Given the description of an element on the screen output the (x, y) to click on. 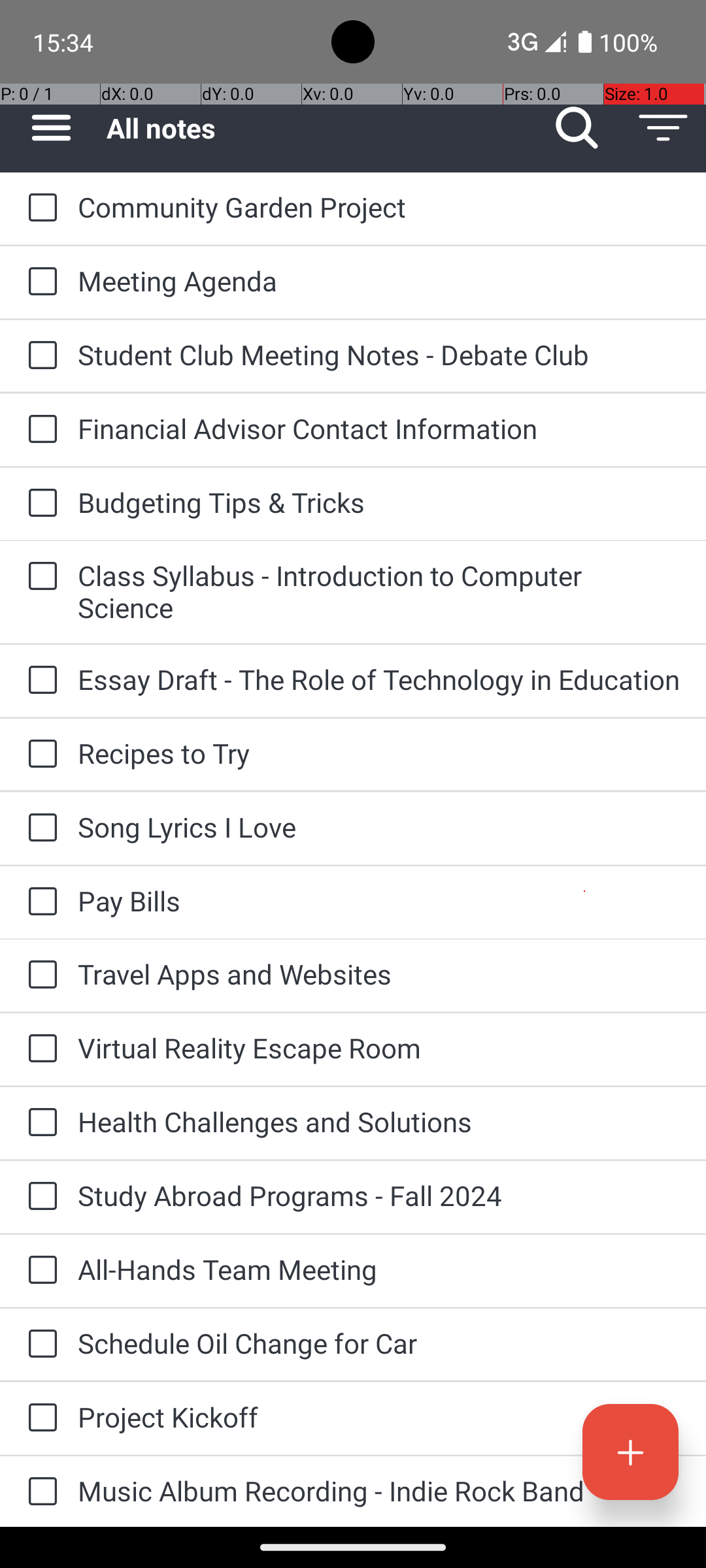
Sidebar Element type: android.widget.Button (44, 127)
All notes Element type: android.widget.TextView (320, 127)
Sort notes by Element type: android.widget.Button (663, 127)
Add new, collapsed Element type: android.widget.Button (630, 1452)
 Element type: android.widget.TextView (51, 127)
 Element type: android.widget.TextView (576, 127)
 Element type: android.widget.TextView (663, 127)
 Element type: android.widget.TextView (630, 1451)
to-do: Community Garden Project Element type: android.widget.CheckBox (38, 208)
Community Garden Project Element type: android.widget.TextView (378, 206)
to-do: Meeting Agenda Element type: android.widget.CheckBox (38, 282)
Meeting Agenda Element type: android.widget.TextView (378, 280)
to-do: Student Club Meeting Notes - Debate Club Element type: android.widget.CheckBox (38, 356)
Student Club Meeting Notes - Debate Club Element type: android.widget.TextView (378, 354)
to-do: Financial Advisor Contact Information Element type: android.widget.CheckBox (38, 429)
Financial Advisor Contact Information Element type: android.widget.TextView (378, 427)
to-do: Budgeting Tips & Tricks Element type: android.widget.CheckBox (38, 503)
Budgeting Tips & Tricks Element type: android.widget.TextView (378, 501)
to-do: Class Syllabus - Introduction to Computer Science Element type: android.widget.CheckBox (38, 576)
Class Syllabus - Introduction to Computer Science Element type: android.widget.TextView (378, 590)
to-do: Essay Draft - The Role of Technology in Education Element type: android.widget.CheckBox (38, 680)
Essay Draft - The Role of Technology in Education Element type: android.widget.TextView (378, 678)
to-do: Recipes to Try Element type: android.widget.CheckBox (38, 754)
Recipes to Try Element type: android.widget.TextView (378, 752)
to-do: Song Lyrics I Love Element type: android.widget.CheckBox (38, 828)
Song Lyrics I Love Element type: android.widget.TextView (378, 826)
to-do: Pay Bills Element type: android.widget.CheckBox (38, 902)
Pay Bills Element type: android.widget.TextView (378, 900)
to-do: Travel Apps and Websites Element type: android.widget.CheckBox (38, 975)
Travel Apps and Websites Element type: android.widget.TextView (378, 973)
to-do: Virtual Reality Escape Room Element type: android.widget.CheckBox (38, 1049)
Virtual Reality Escape Room Element type: android.widget.TextView (378, 1047)
to-do: Health Challenges and Solutions Element type: android.widget.CheckBox (38, 1123)
Health Challenges and Solutions Element type: android.widget.TextView (378, 1121)
to-do: Study Abroad Programs - Fall 2024 Element type: android.widget.CheckBox (38, 1196)
Study Abroad Programs - Fall 2024 Element type: android.widget.TextView (378, 1194)
to-do: All-Hands Team Meeting Element type: android.widget.CheckBox (38, 1270)
All-Hands Team Meeting Element type: android.widget.TextView (378, 1268)
to-do: Schedule Oil Change for Car Element type: android.widget.CheckBox (38, 1344)
Schedule Oil Change for Car Element type: android.widget.TextView (378, 1342)
to-do: Project Kickoff Element type: android.widget.CheckBox (38, 1418)
Project Kickoff Element type: android.widget.TextView (378, 1416)
to-do: Music Album Recording - Indie Rock Band Element type: android.widget.CheckBox (38, 1491)
Music Album Recording - Indie Rock Band Element type: android.widget.TextView (378, 1490)
 Element type: android.widget.TextView (42, 208)
